Given the description of an element on the screen output the (x, y) to click on. 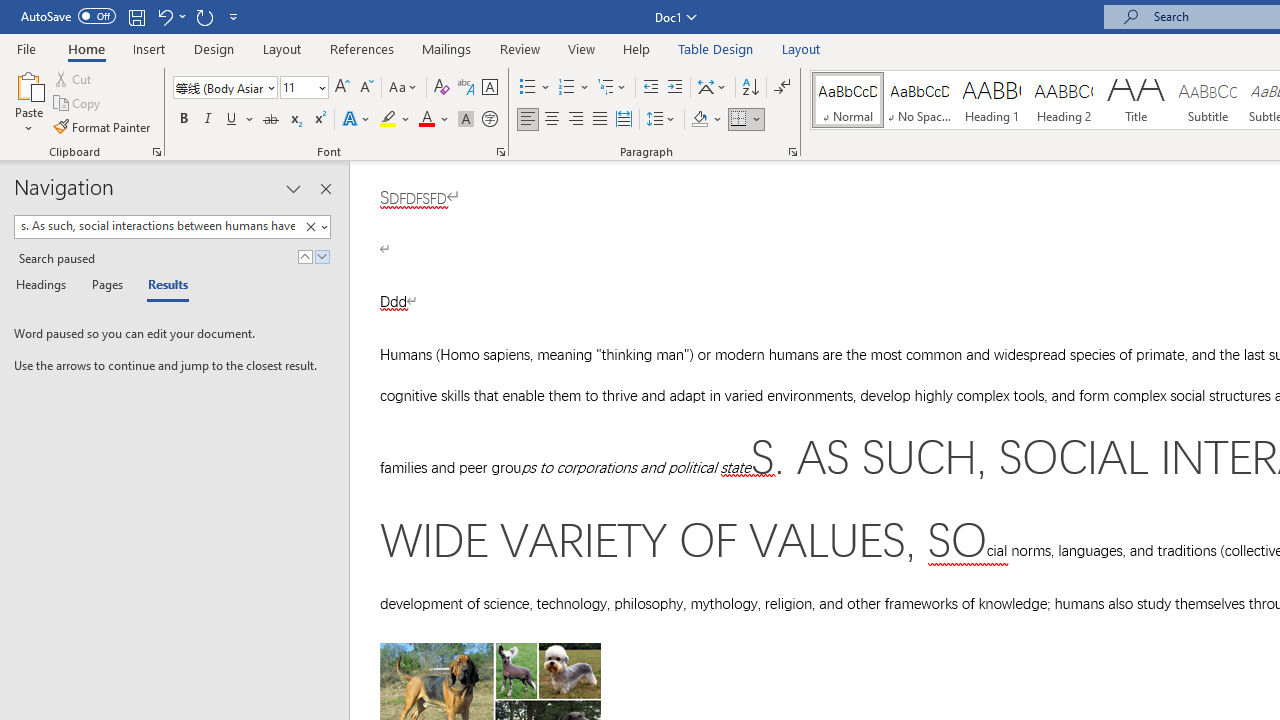
Clear (314, 227)
